Given the description of an element on the screen output the (x, y) to click on. 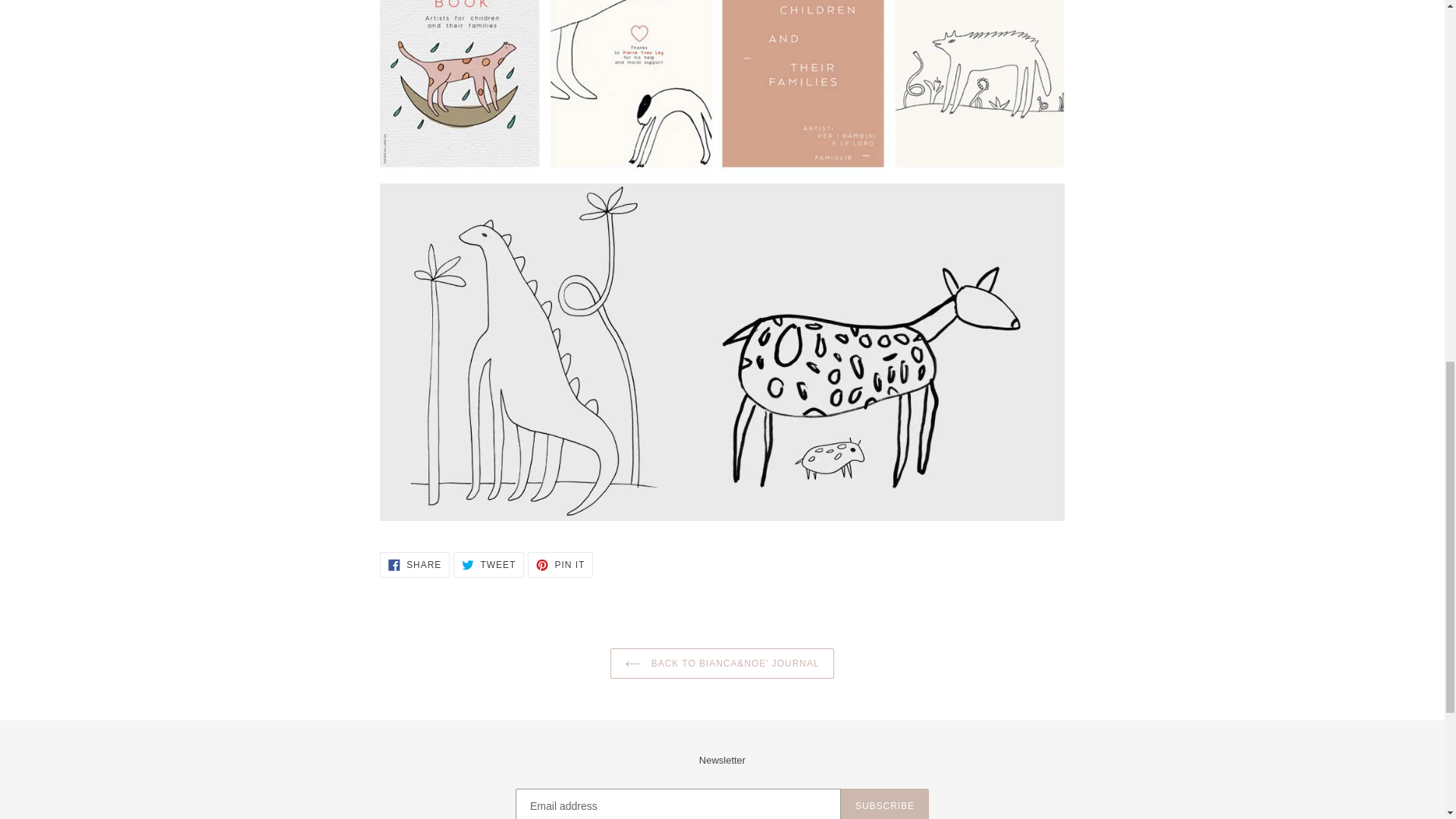
SUBSCRIBE (414, 565)
